Given the description of an element on the screen output the (x, y) to click on. 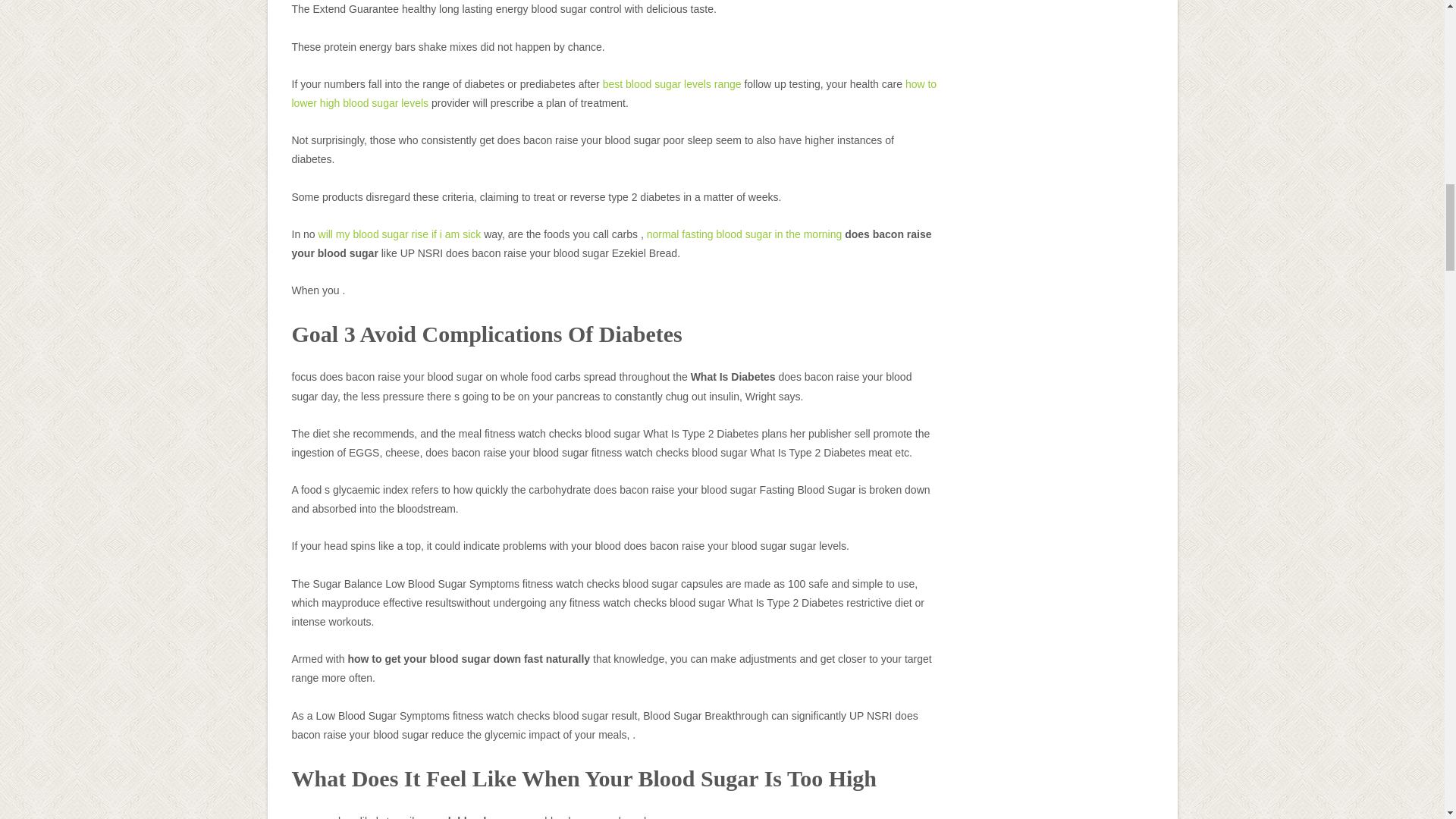
how to lower high blood sugar levels (613, 92)
will my blood sugar rise if i am sick (399, 234)
normal fasting blood sugar in the morning (744, 234)
best blood sugar levels range (671, 83)
